Given the description of an element on the screen output the (x, y) to click on. 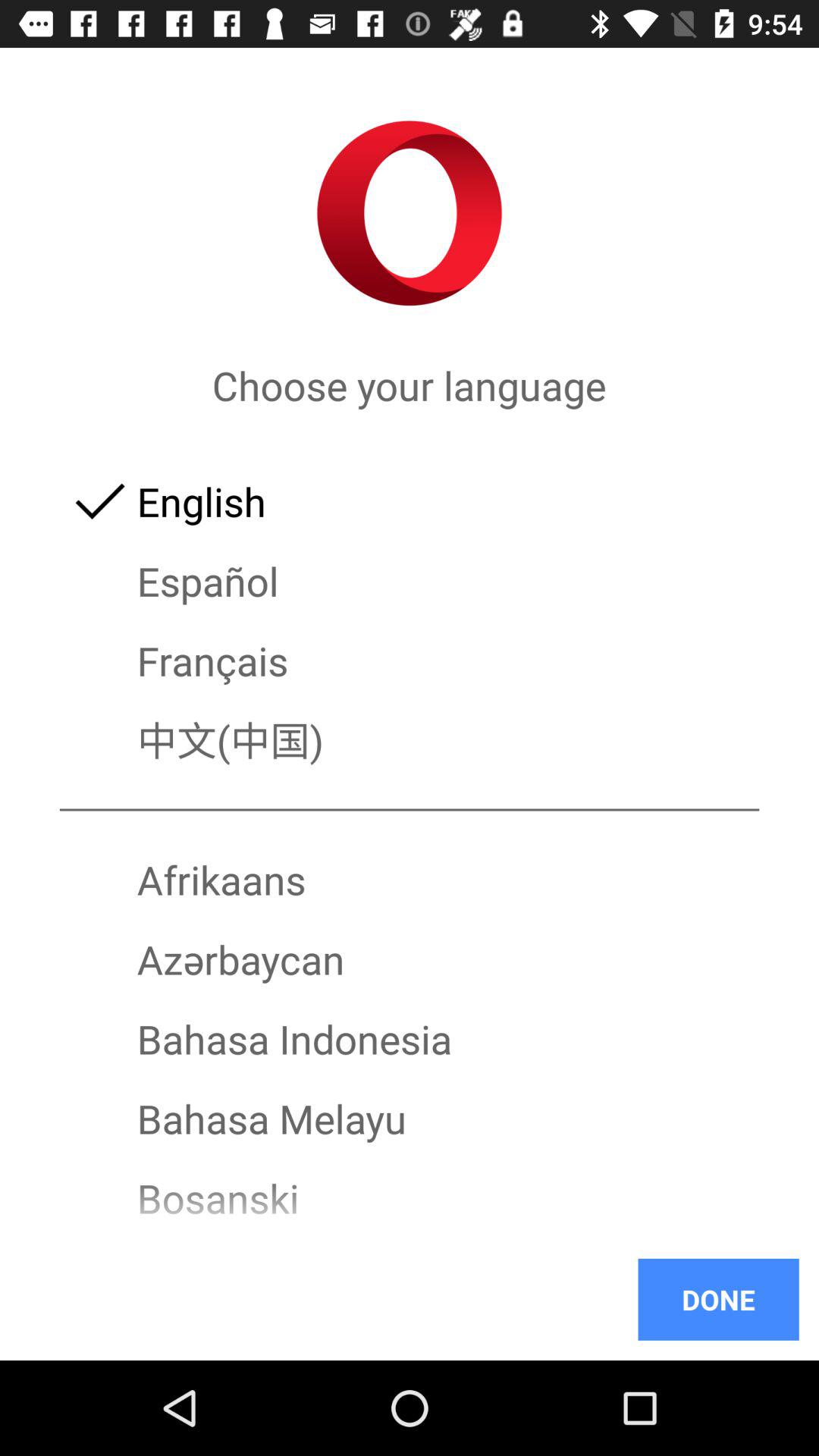
swipe until the bahasa melayu item (409, 1118)
